Given the description of an element on the screen output the (x, y) to click on. 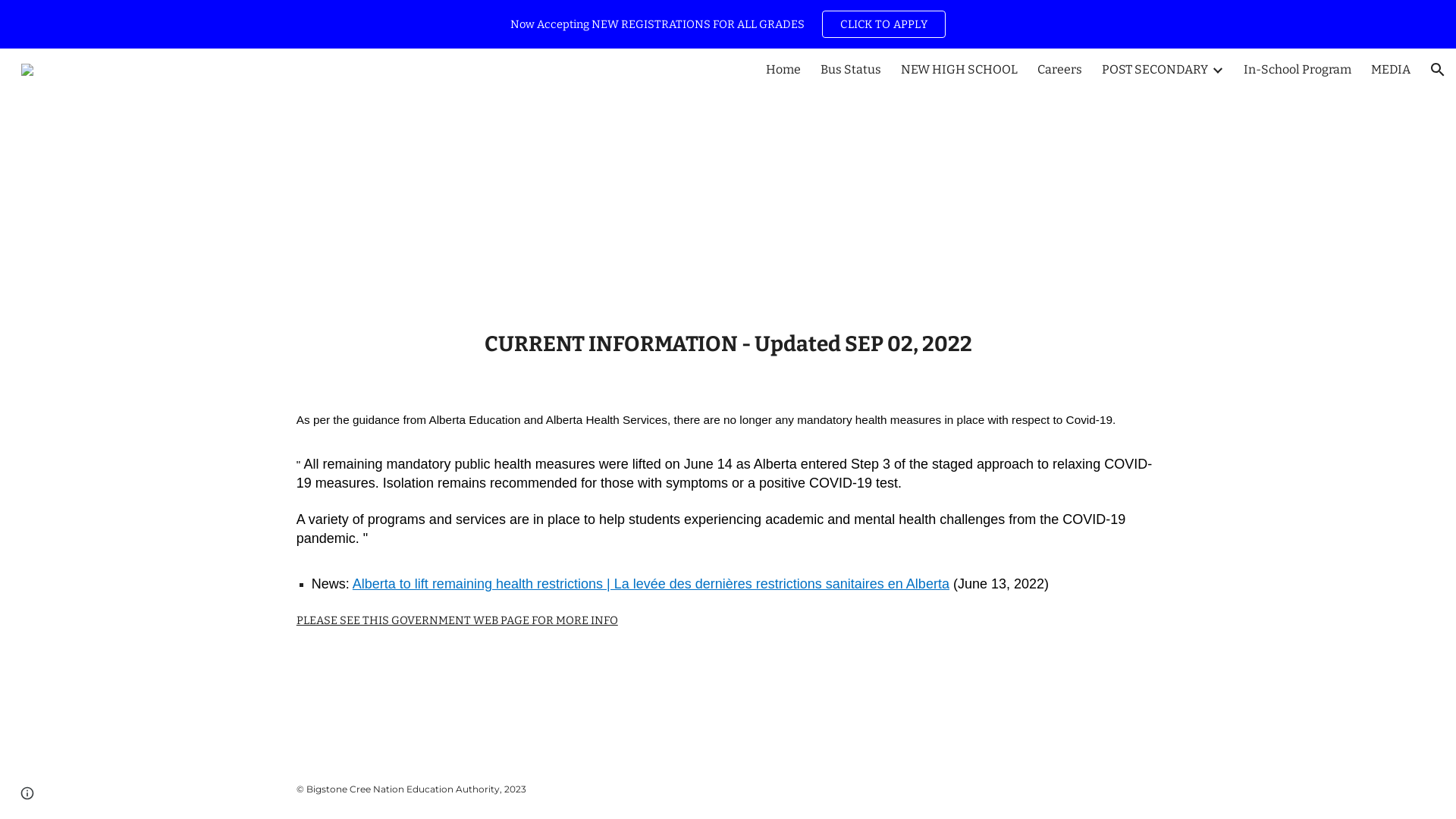
Expand/Collapse Element type: hover (1216, 69)
CLICK TO APPLY Element type: text (883, 24)
NEW HIGH SCHOOL Element type: text (958, 69)
MEDIA Element type: text (1390, 69)
POST SECONDARY Element type: text (1154, 69)
Bus Status Element type: text (850, 69)
In-School Program Element type: text (1297, 69)
PLEASE SEE THIS GOVERNMENT WEB PAGE FOR MORE INFO Element type: text (457, 620)
Home Element type: text (782, 69)
Careers Element type: text (1059, 69)
